Given the description of an element on the screen output the (x, y) to click on. 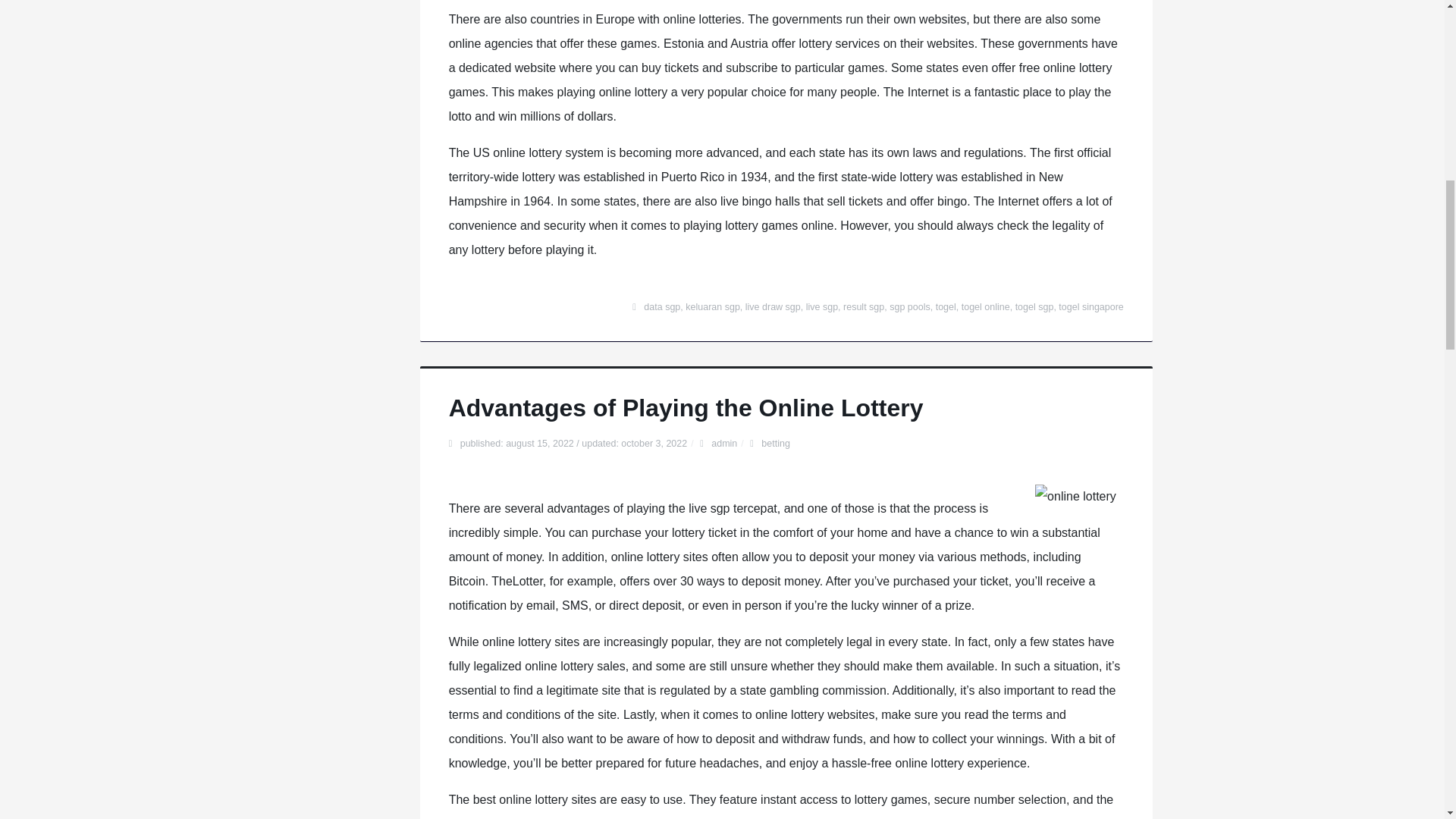
live draw sgp (772, 307)
result sgp (863, 307)
admin (723, 443)
togel sgp (1034, 307)
togel (946, 307)
sgp pools (909, 307)
togel singapore (1090, 307)
live sgp (822, 307)
Advantages of Playing the Online Lottery (685, 407)
keluaran sgp (712, 307)
